Given the description of an element on the screen output the (x, y) to click on. 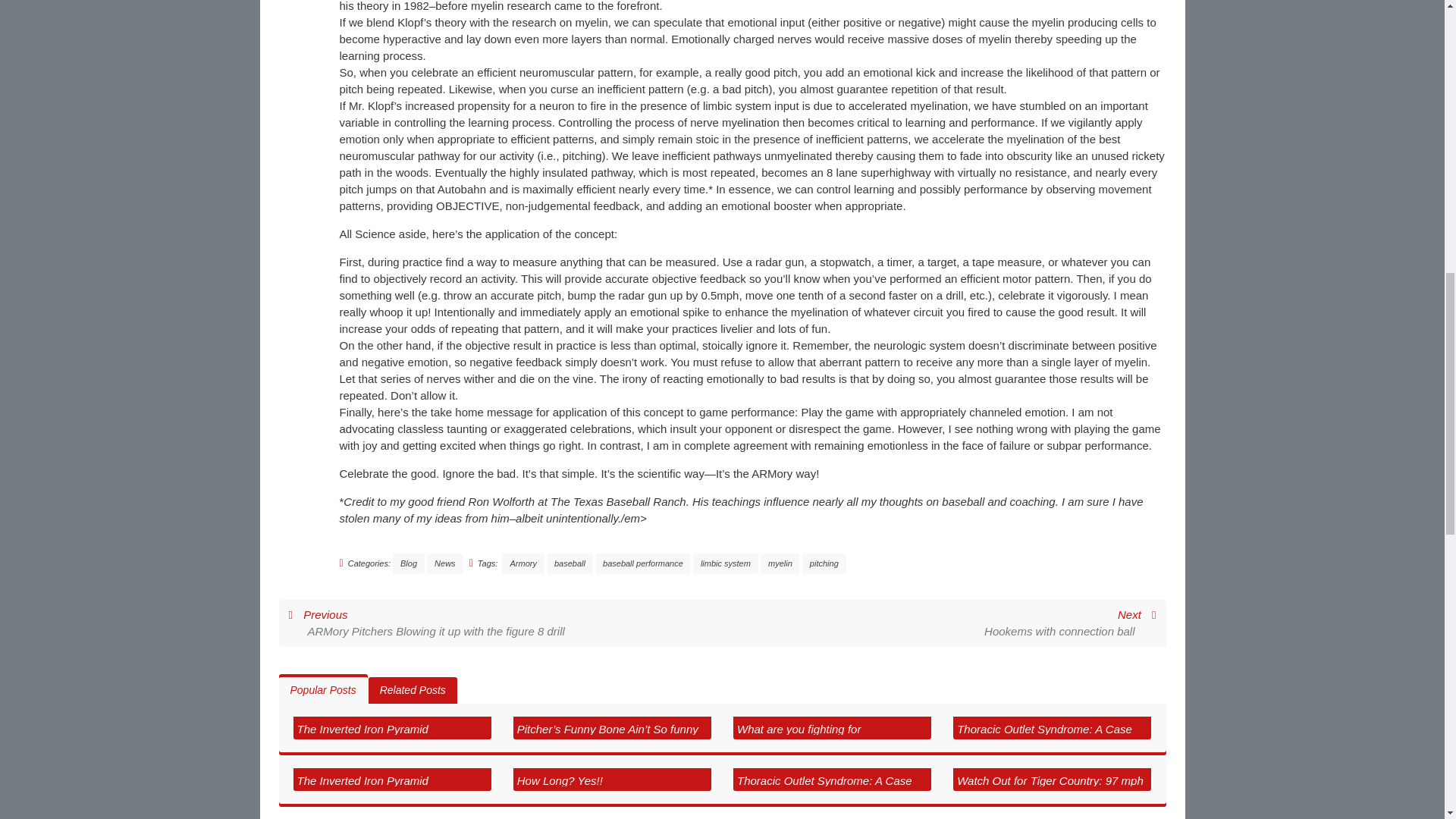
News (444, 563)
Thoracic Outlet Syndrome: A Case Study (1070, 622)
The Inverted Iron Pyramid (1044, 737)
What are you fighting for (362, 780)
baseball performance (798, 728)
limbic system (642, 563)
pitching (725, 563)
Blog (823, 563)
Armory (409, 563)
